Given the description of an element on the screen output the (x, y) to click on. 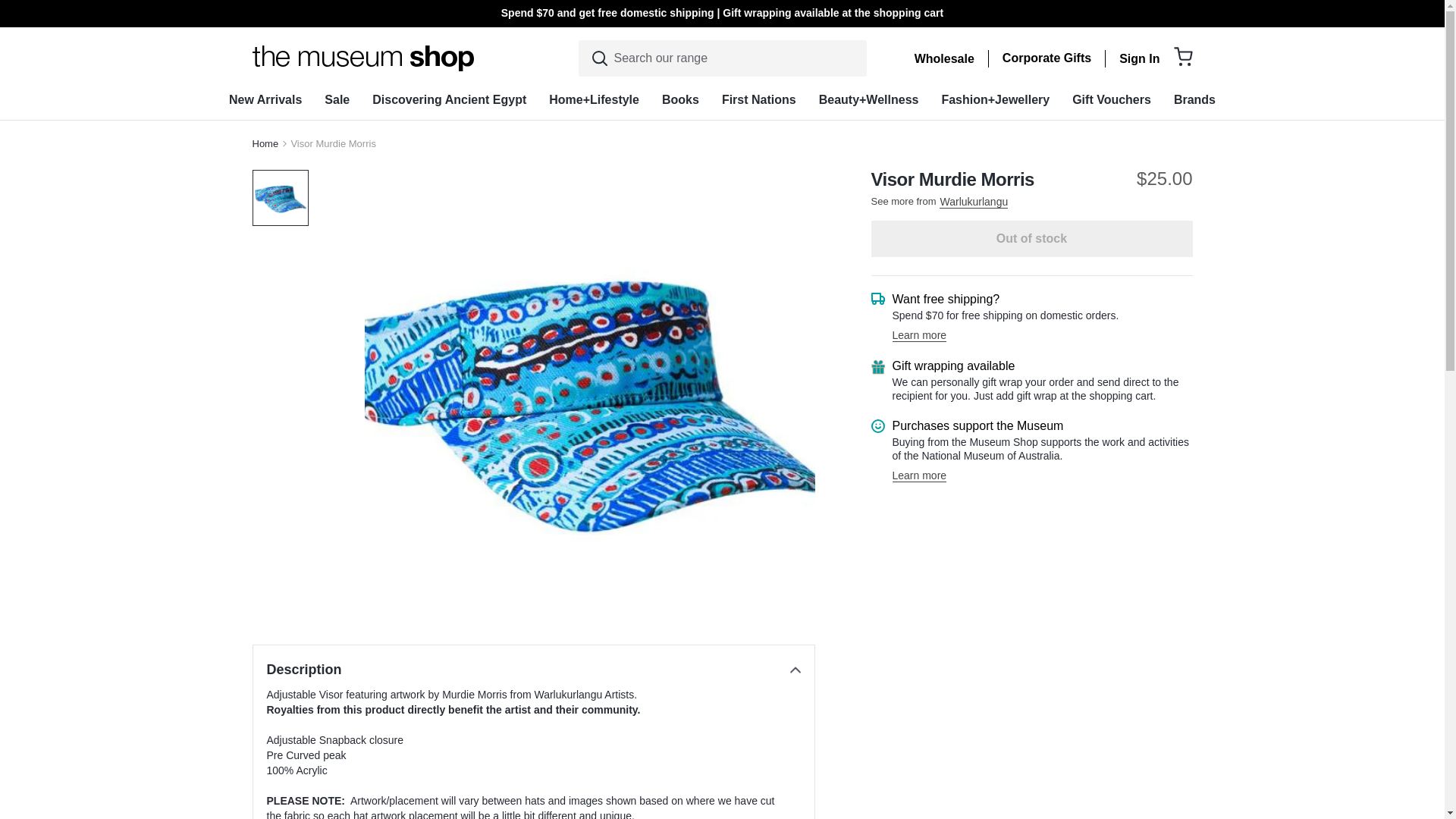
Corporate Gifts (1046, 58)
New Arrivals (264, 99)
Discovering Ancient Egypt (449, 99)
Home (264, 143)
Sign In (1138, 59)
First Nations (759, 99)
Wholesale (944, 59)
Books (680, 99)
Sale (337, 99)
value (8, 7)
